Given the description of an element on the screen output the (x, y) to click on. 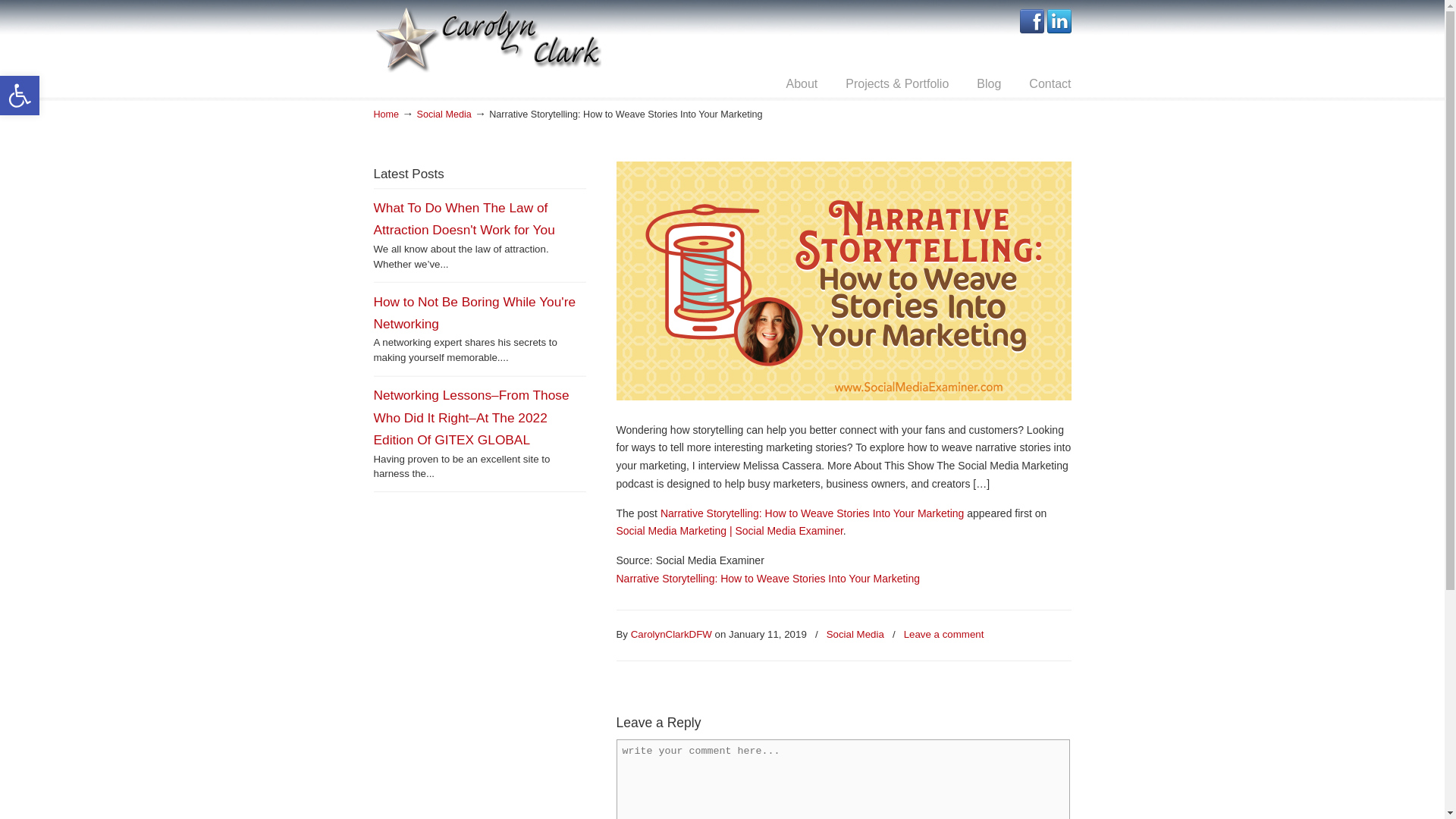
How to Not Be Boring While You're Networking (473, 312)
About (801, 83)
Social Media (443, 113)
Accessibility Tools (19, 95)
Social Media (855, 634)
Leave a comment (944, 634)
What To Do When The Law of Attraction Doesn't Work for You (463, 218)
Blog (988, 83)
Accessibility Tools (19, 95)
Posts by CarolynClarkDFW (670, 634)
